Given the description of an element on the screen output the (x, y) to click on. 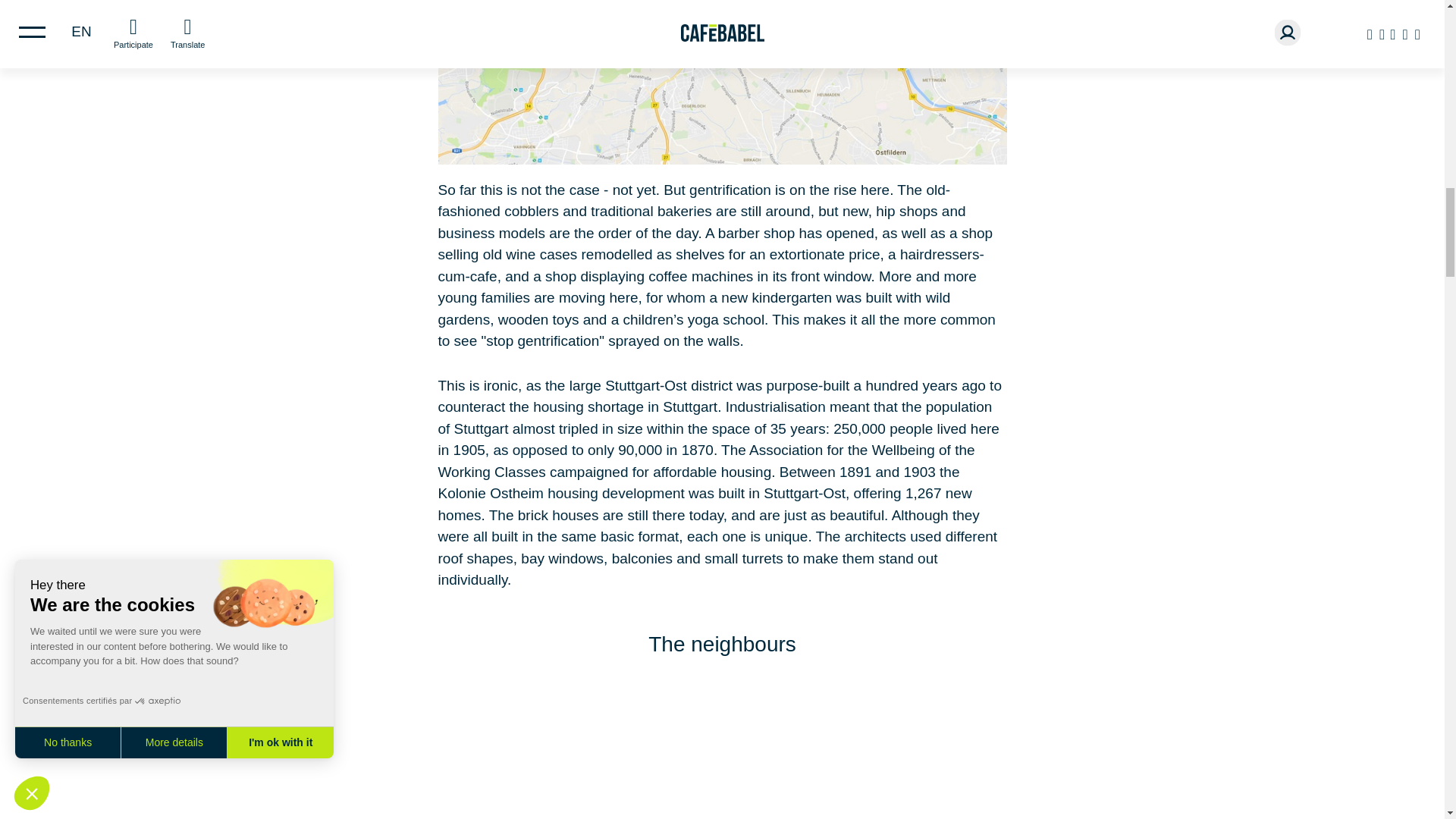
Stuttgart-Ost (722, 82)
Video player (721, 757)
